Given the description of an element on the screen output the (x, y) to click on. 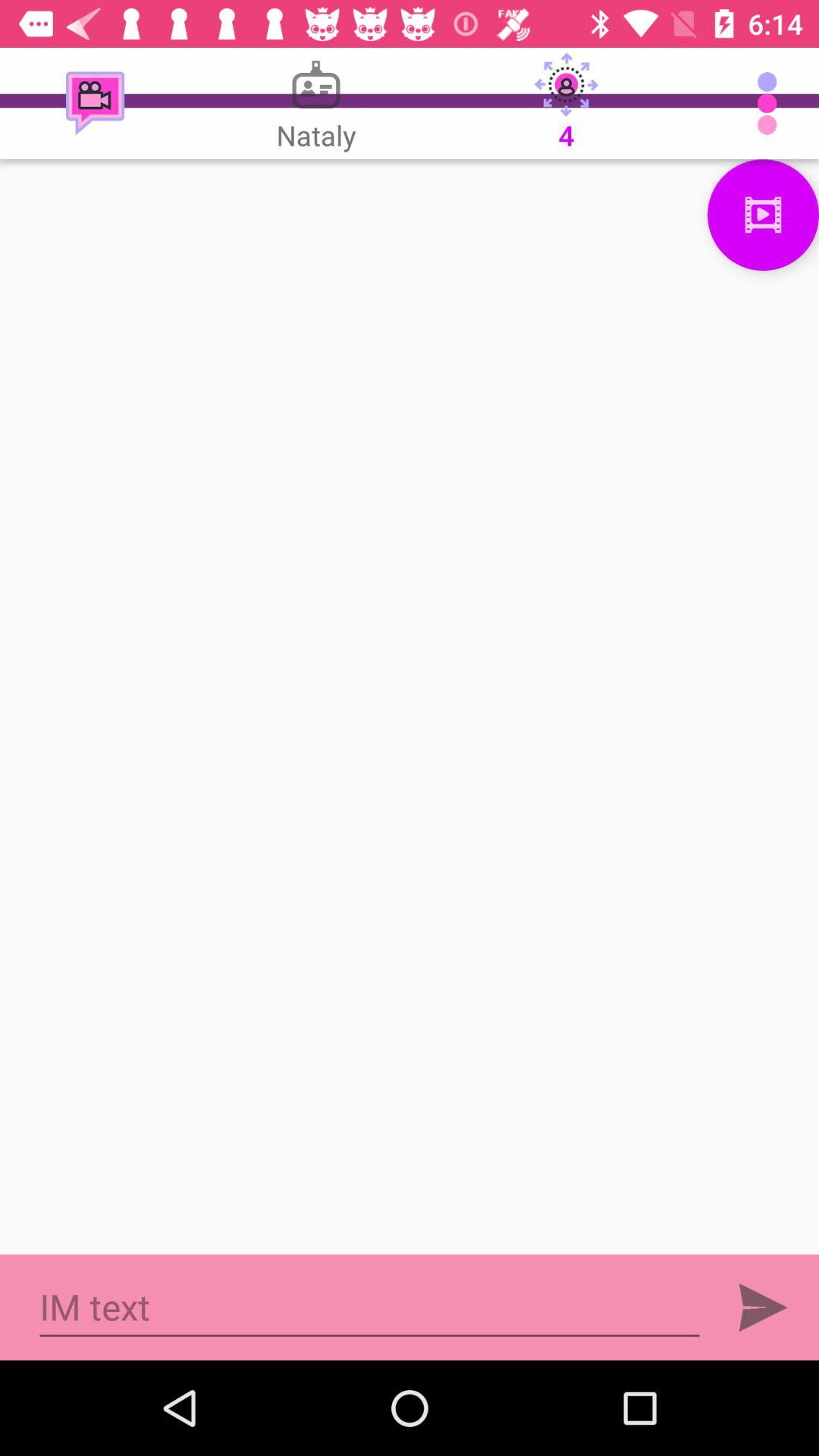
text message (369, 1307)
